Given the description of an element on the screen output the (x, y) to click on. 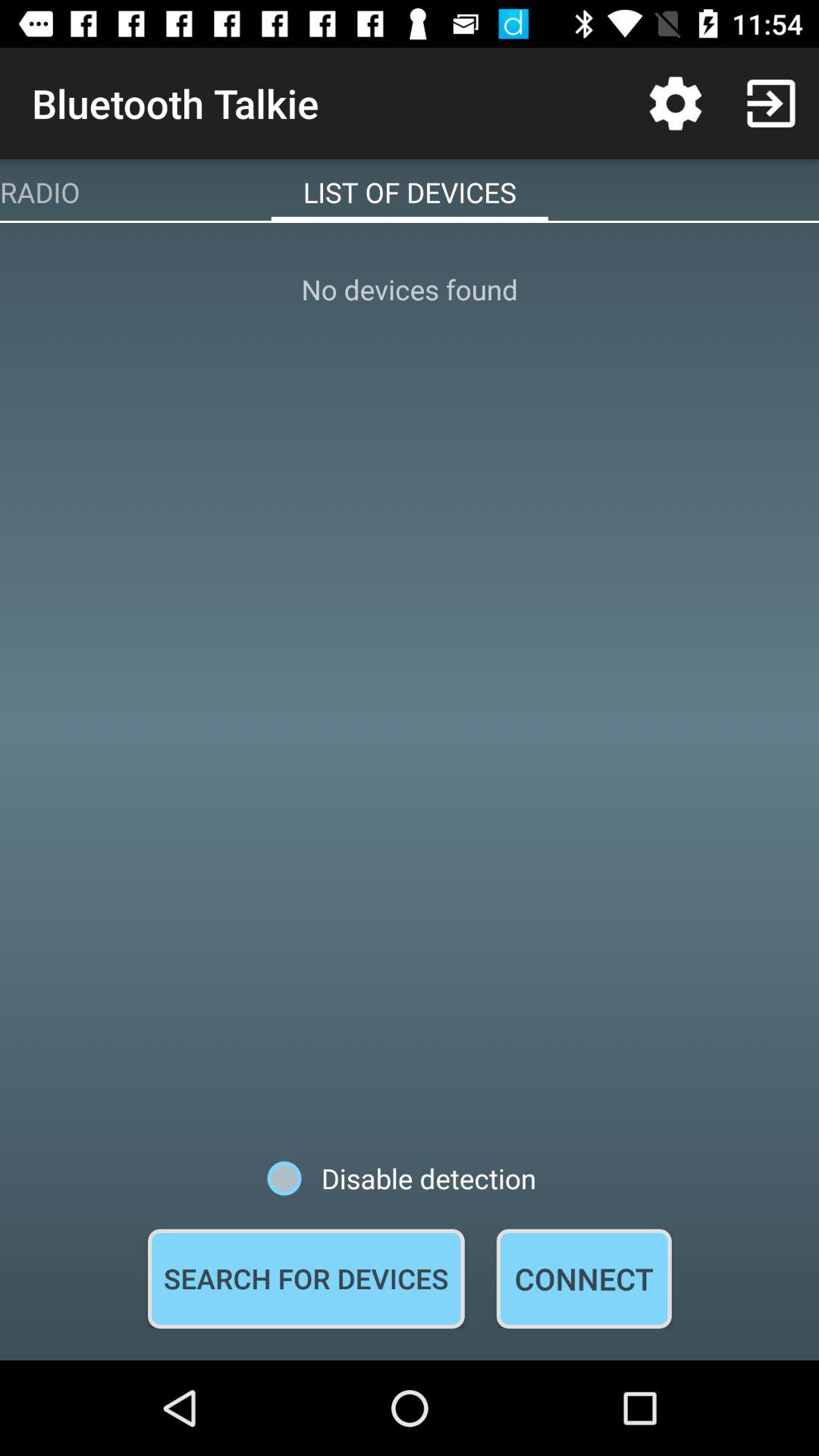
turn on item to the left of the list of devices (40, 192)
